Given the description of an element on the screen output the (x, y) to click on. 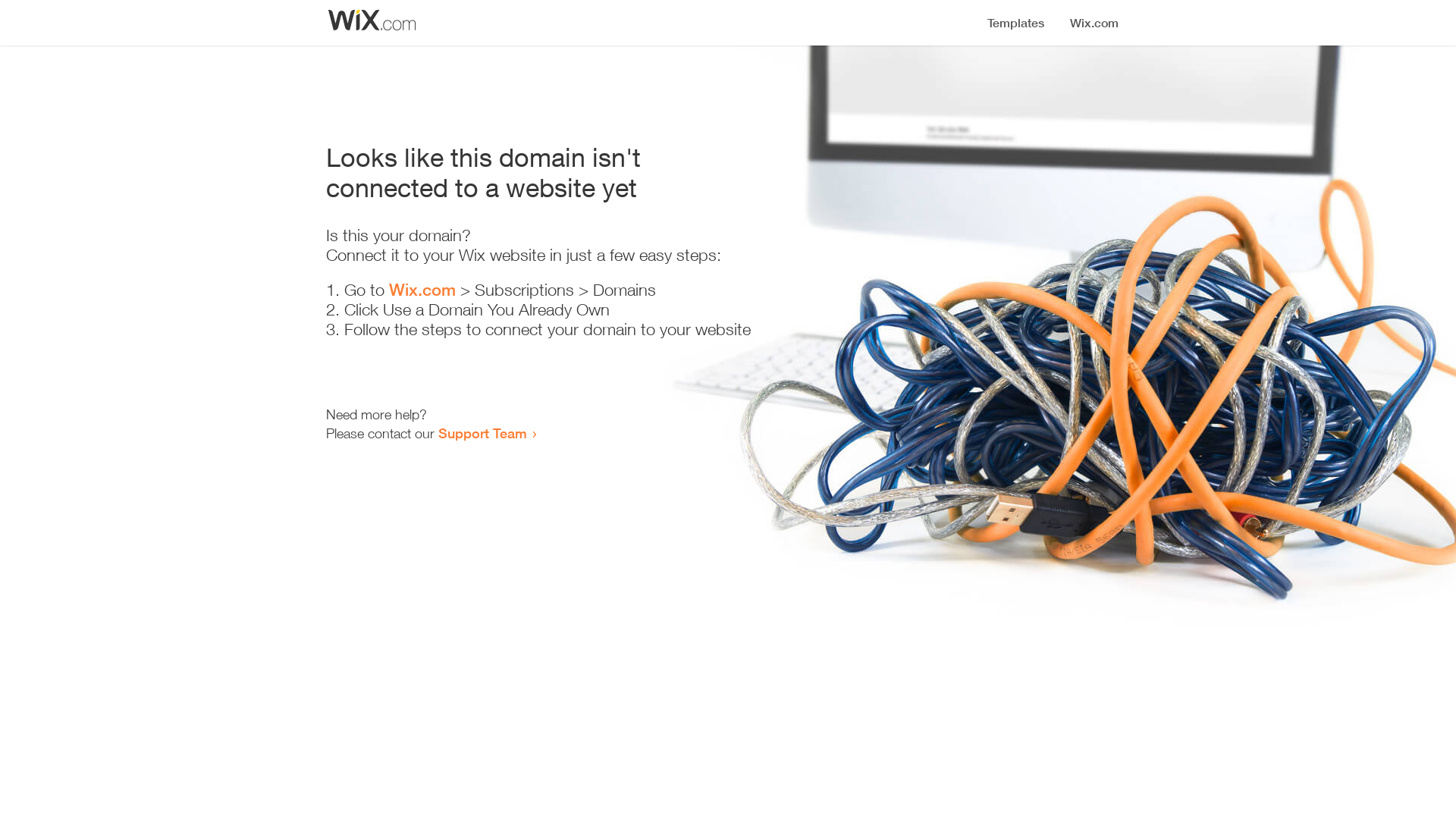
Wix.com Element type: text (422, 289)
Support Team Element type: text (482, 432)
